Given the description of an element on the screen output the (x, y) to click on. 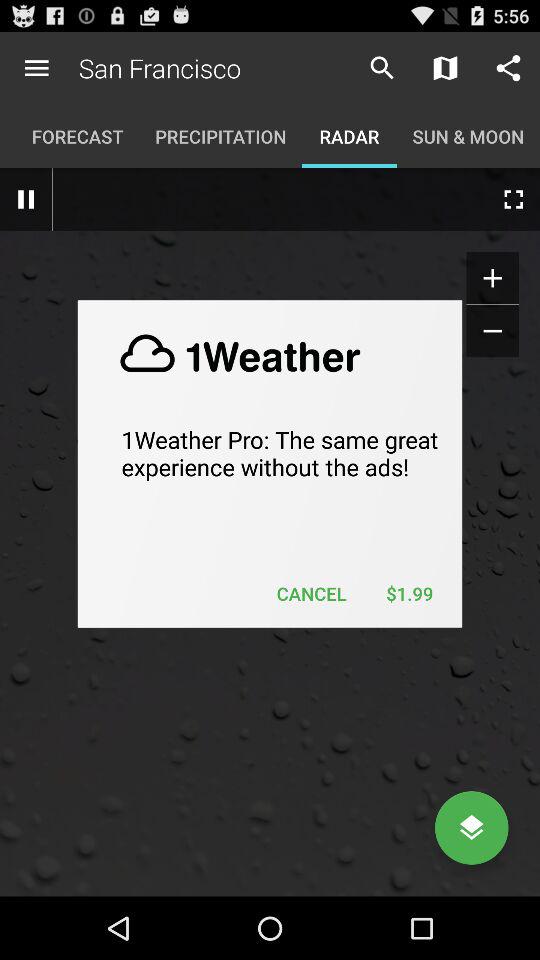
choose $1.99 (409, 593)
